Given the description of an element on the screen output the (x, y) to click on. 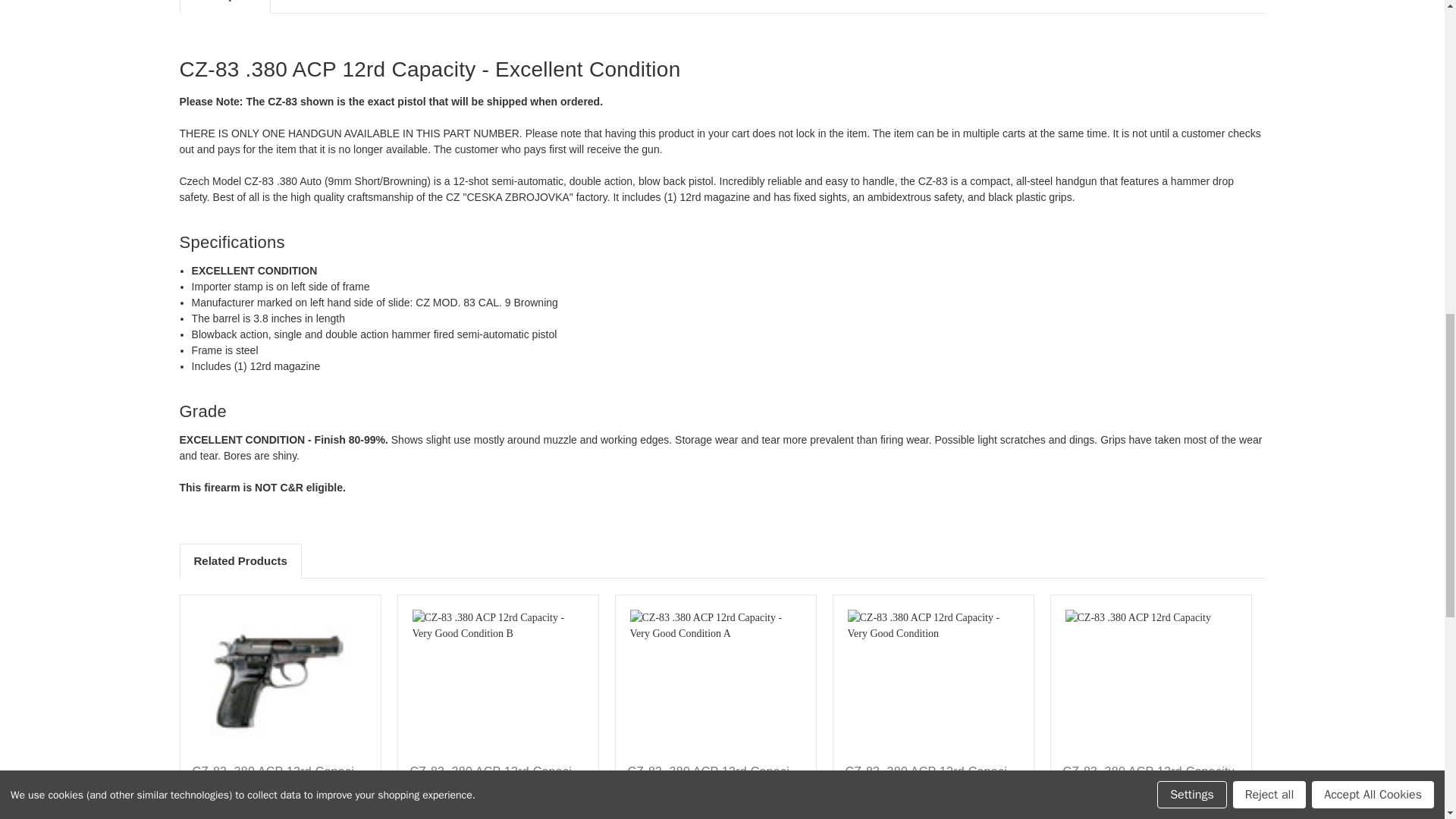
CZ-83 .380 ACP 12rd Capacity - Very Good Condition A (714, 680)
CZ-83 .380 ACP 12rd Capacity - Very Good Condition B (497, 680)
CZ-83 .380 ACP 12rd Capacity - Very Good Condition C (279, 680)
CZ-83 .380 ACP 12rd Capacity (1150, 680)
CZ-83 .380 ACP 12rd Capacity - Very Good Condition (933, 680)
